Given the description of an element on the screen output the (x, y) to click on. 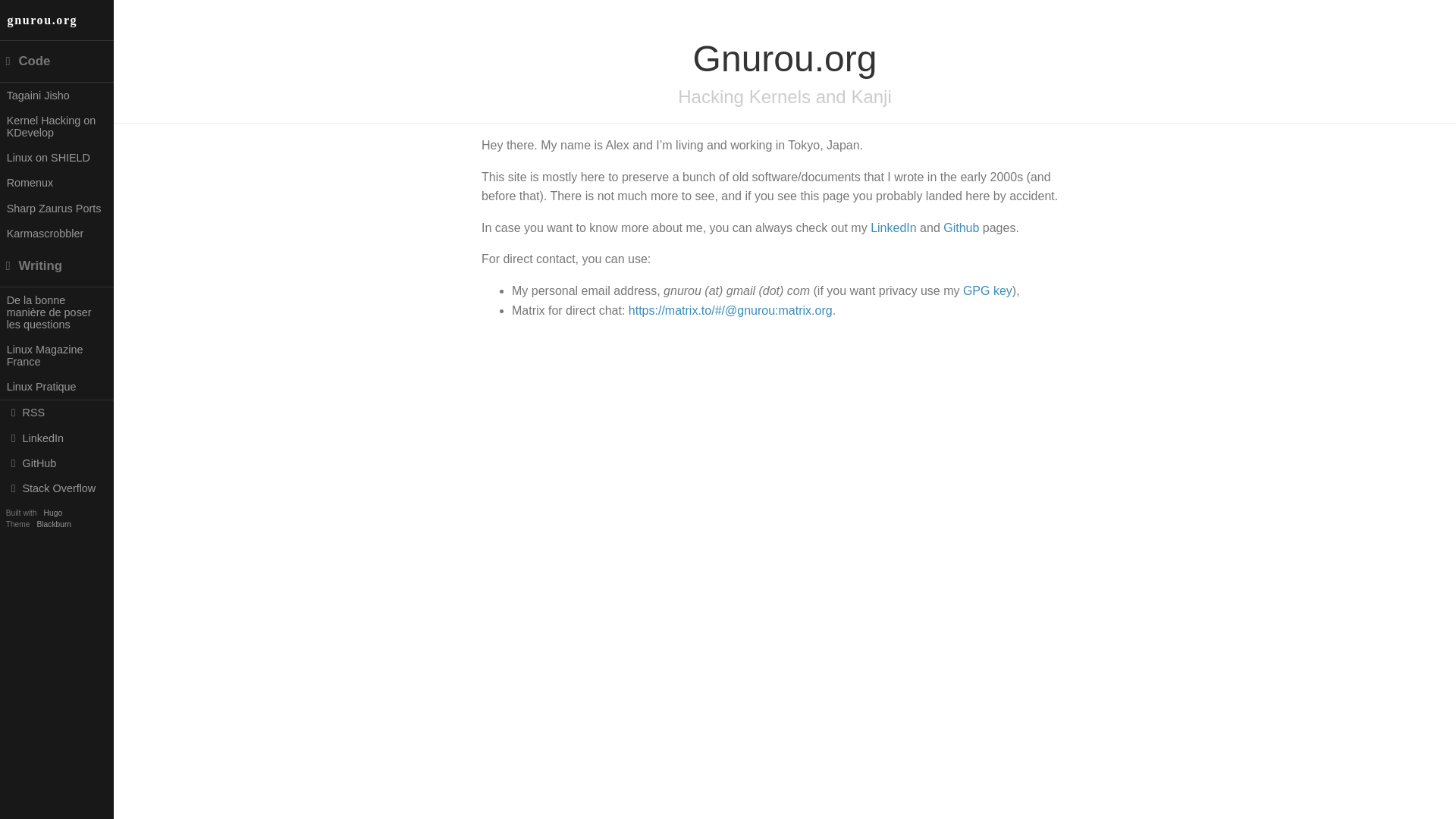
LinkedIn (893, 227)
Tagaini Jisho (56, 94)
Sharp Zaurus Ports (56, 207)
Linux on SHIELD (56, 156)
Github (960, 227)
gnurou.org (56, 19)
GPG key (986, 290)
Kernel Hacking on KDevelop (56, 125)
Romenux (56, 182)
Karmascrobbler (56, 232)
